Given the description of an element on the screen output the (x, y) to click on. 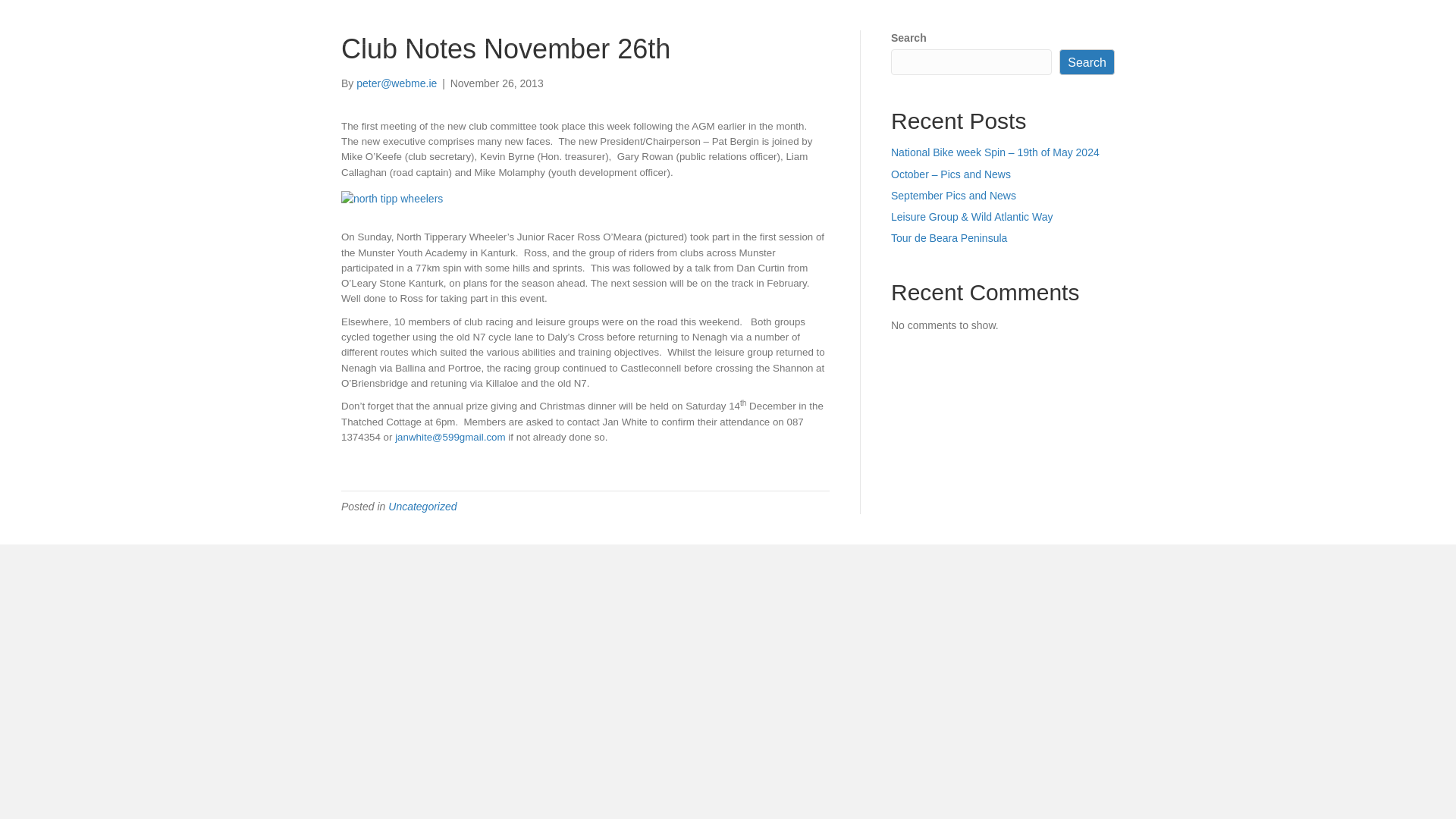
North Tipp Wheelers (464, 24)
Uncategorized (422, 506)
September Pics and News (953, 195)
Home (993, 24)
Search (1087, 62)
Tour de Beara Peninsula (949, 237)
Contact Us (1057, 24)
